Given the description of an element on the screen output the (x, y) to click on. 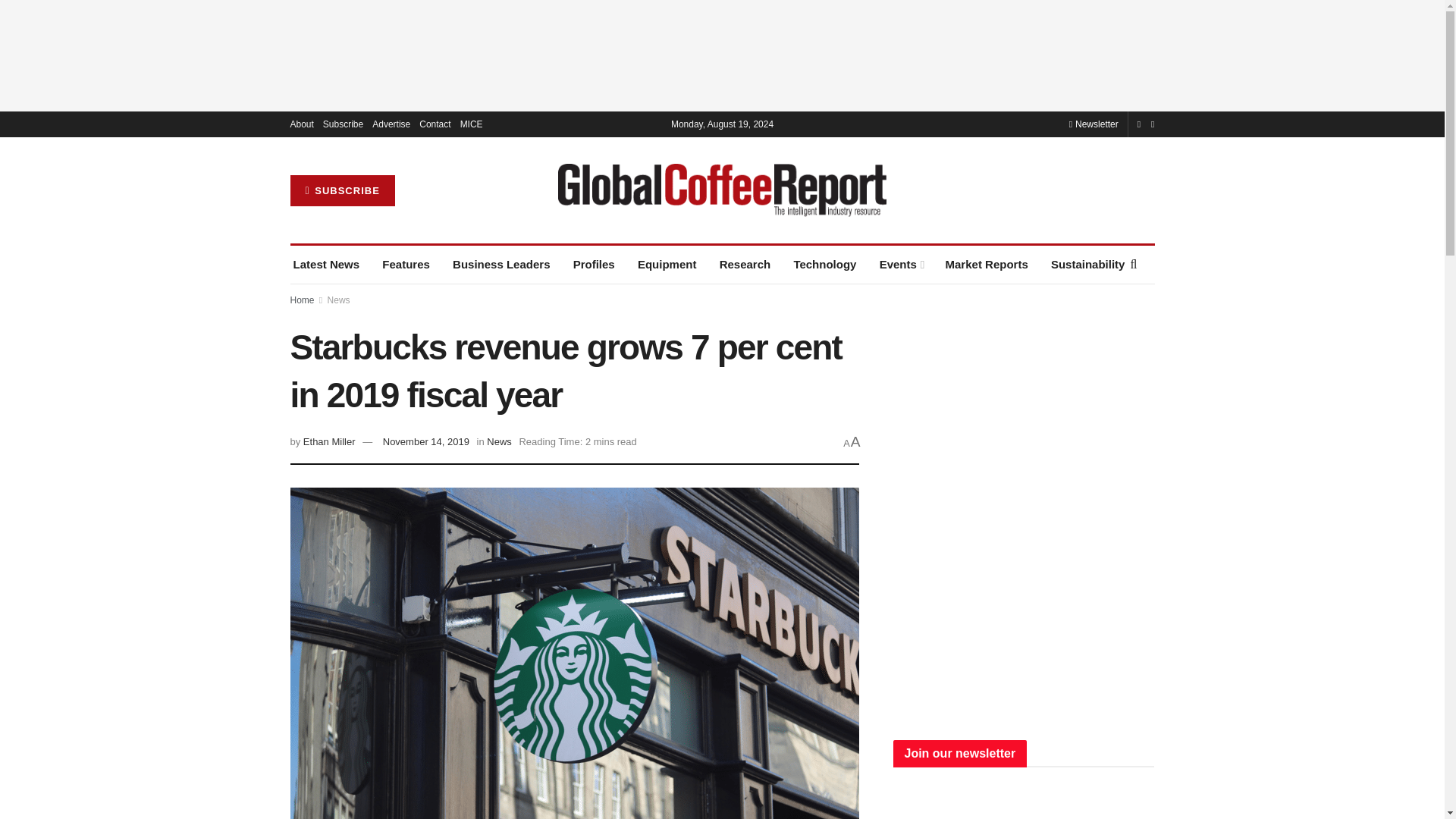
Subscribe (342, 124)
Events (901, 264)
Profiles (593, 264)
Technology (824, 264)
Market Reports (986, 264)
Business Leaders (501, 264)
3rd party ad content (1023, 410)
3rd party ad content (721, 55)
About (301, 124)
Equipment (667, 264)
